Given the description of an element on the screen output the (x, y) to click on. 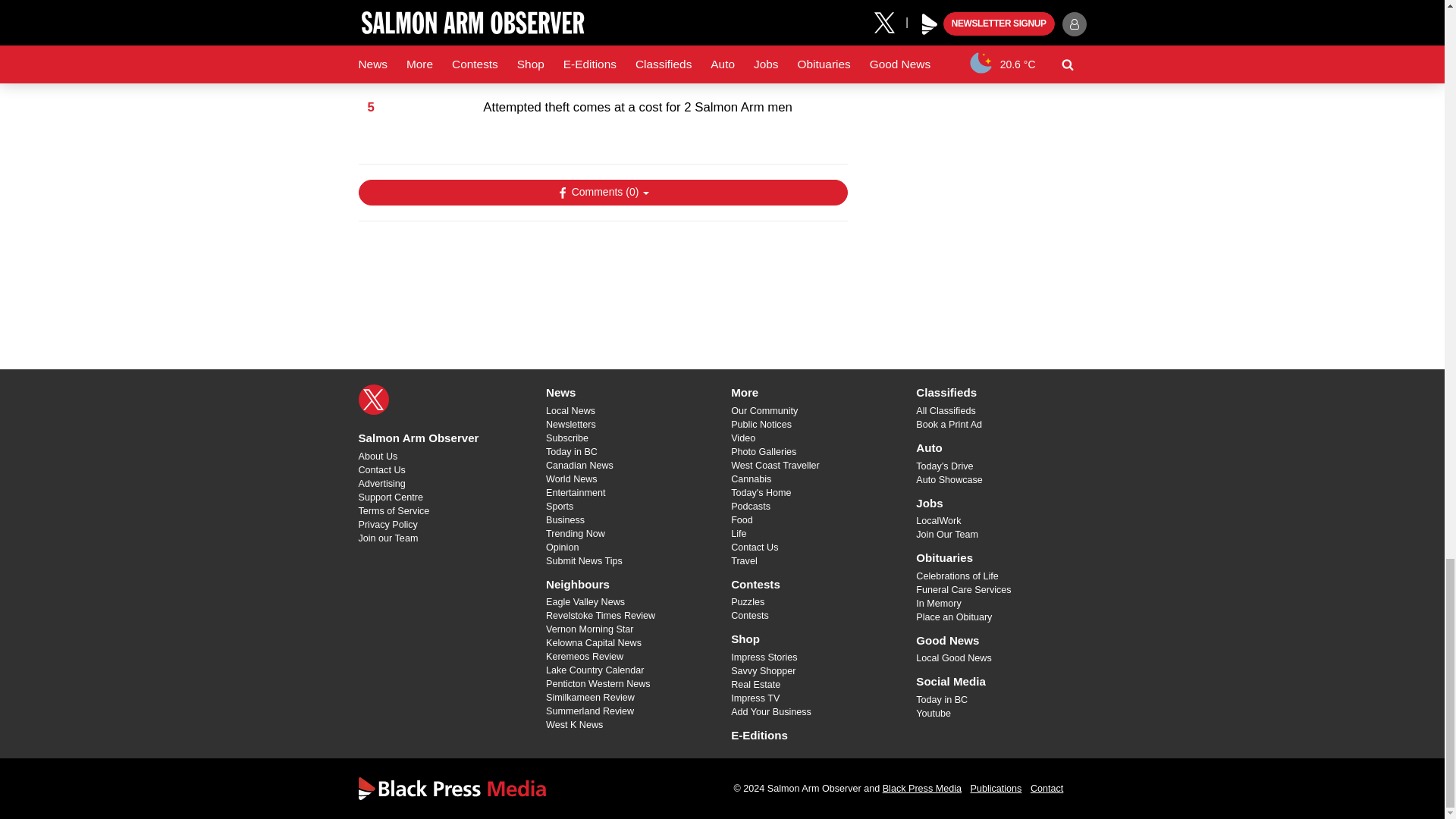
X (373, 399)
Show Comments (602, 192)
